Given the description of an element on the screen output the (x, y) to click on. 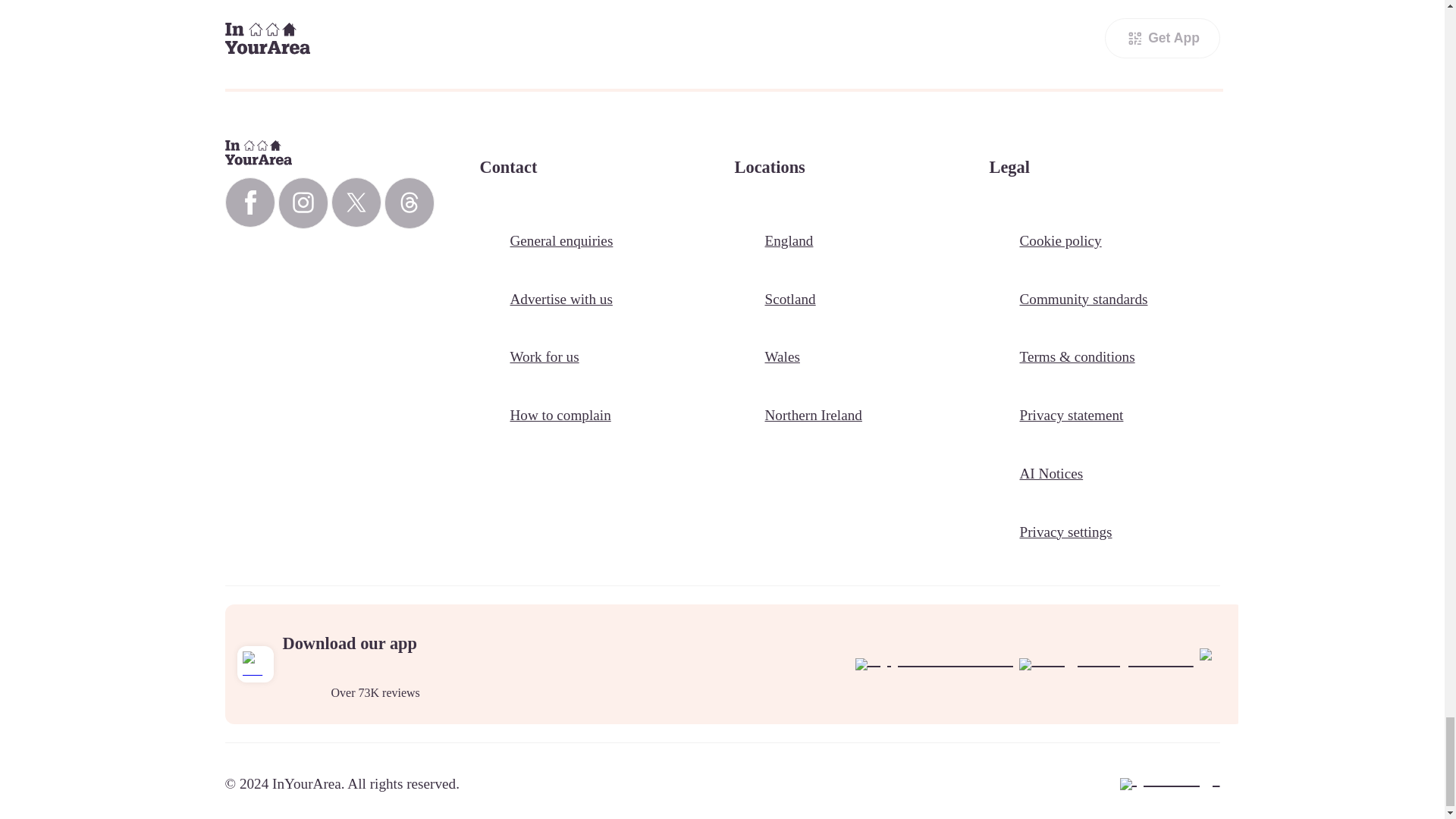
InYourArea Threads (408, 203)
InYourArea X (355, 202)
InYourArea Instagram (302, 203)
InYourArea Facebook (249, 202)
